Given the description of an element on the screen output the (x, y) to click on. 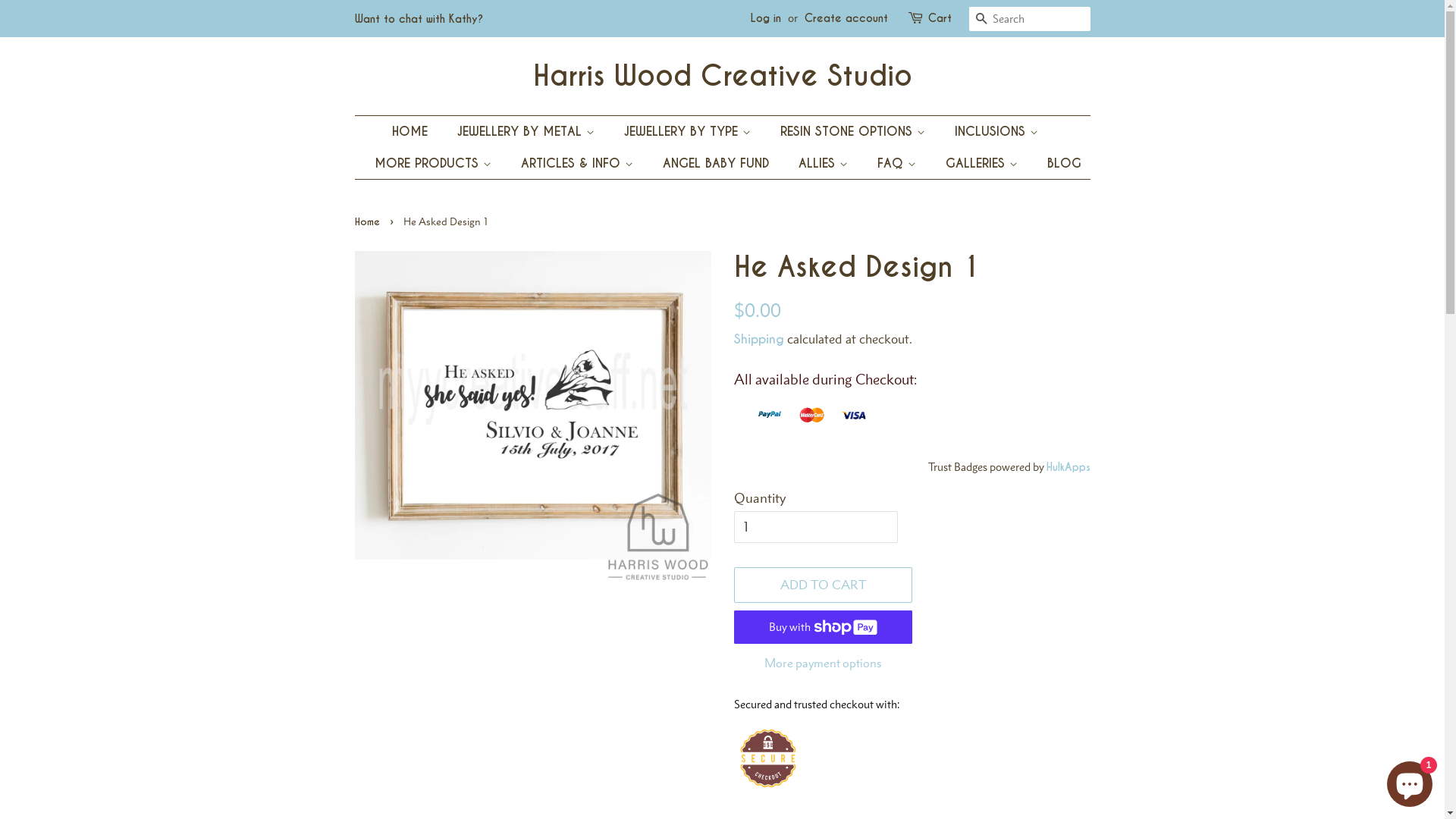
Cart Element type: text (939, 18)
Shipping Element type: text (759, 339)
ANGEL BABY FUND Element type: text (717, 162)
JEWELLERY BY METAL Element type: text (527, 131)
INCLUSIONS Element type: text (998, 131)
MORE PRODUCTS Element type: text (434, 162)
GALLERIES Element type: text (983, 162)
ADD TO CART Element type: text (823, 584)
HulkApps Element type: text (1068, 466)
FAQ Element type: text (898, 162)
JEWELLERY BY TYPE Element type: text (688, 131)
HOME Element type: text (416, 131)
Create account Element type: text (845, 18)
More payment options Element type: text (823, 662)
Log in Element type: text (765, 18)
ALLIES Element type: text (824, 162)
SEARCH Element type: text (981, 18)
Harris Wood Creative Studio Element type: text (722, 75)
ARTICLES & INFO Element type: text (578, 162)
Want to chat with Kathy? Element type: text (418, 18)
Shopify online store chat Element type: hover (1409, 780)
Home Element type: text (368, 221)
RESIN STONE OPTIONS Element type: text (854, 131)
BLOG Element type: text (1058, 162)
